Given the description of an element on the screen output the (x, y) to click on. 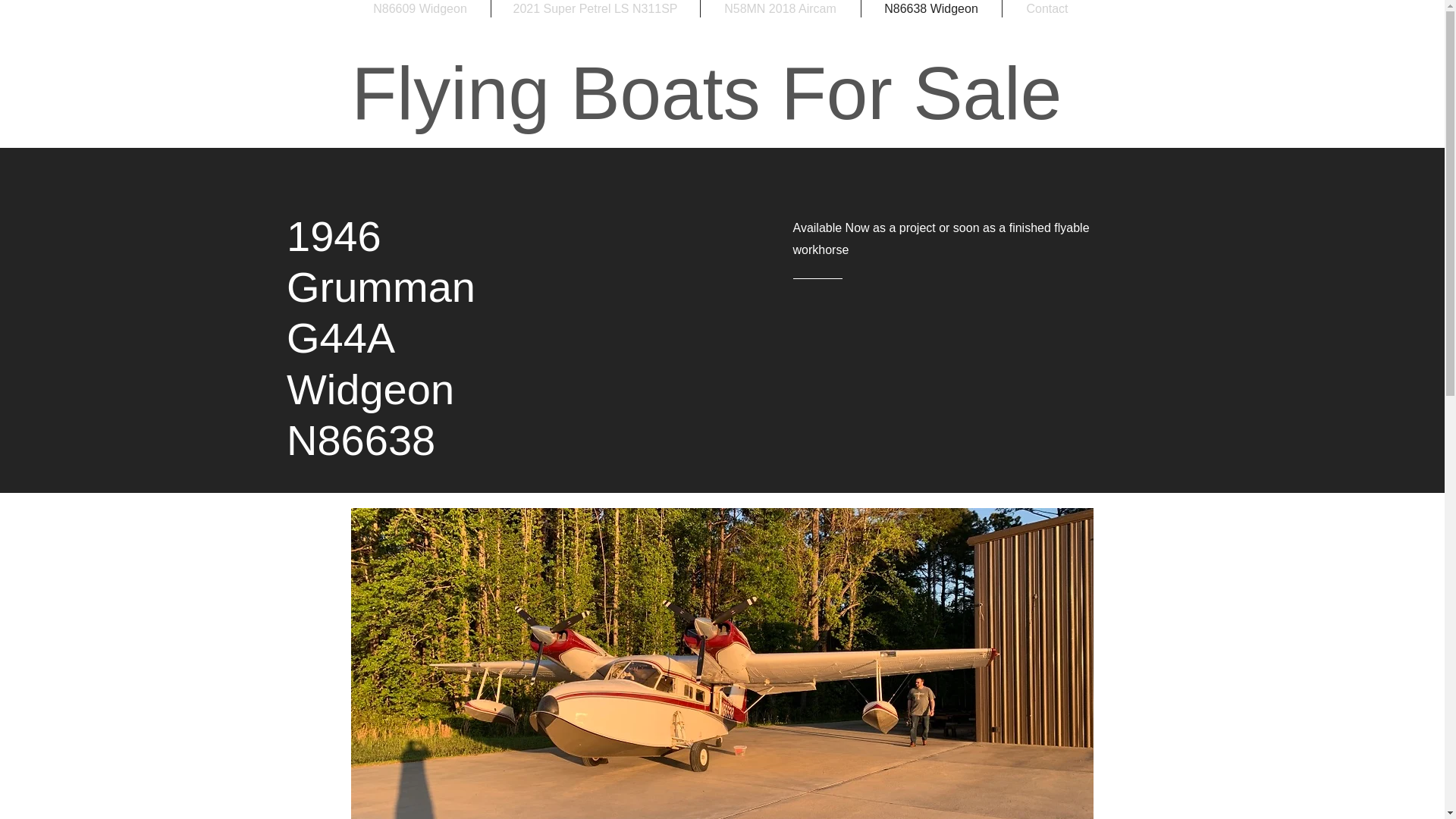
N86638 Widgeon (931, 8)
N58MN 2018 Aircam (780, 8)
Contact (1048, 8)
N86609 Widgeon (420, 8)
2021 Super Petrel LS N311SP (596, 8)
